Given the description of an element on the screen output the (x, y) to click on. 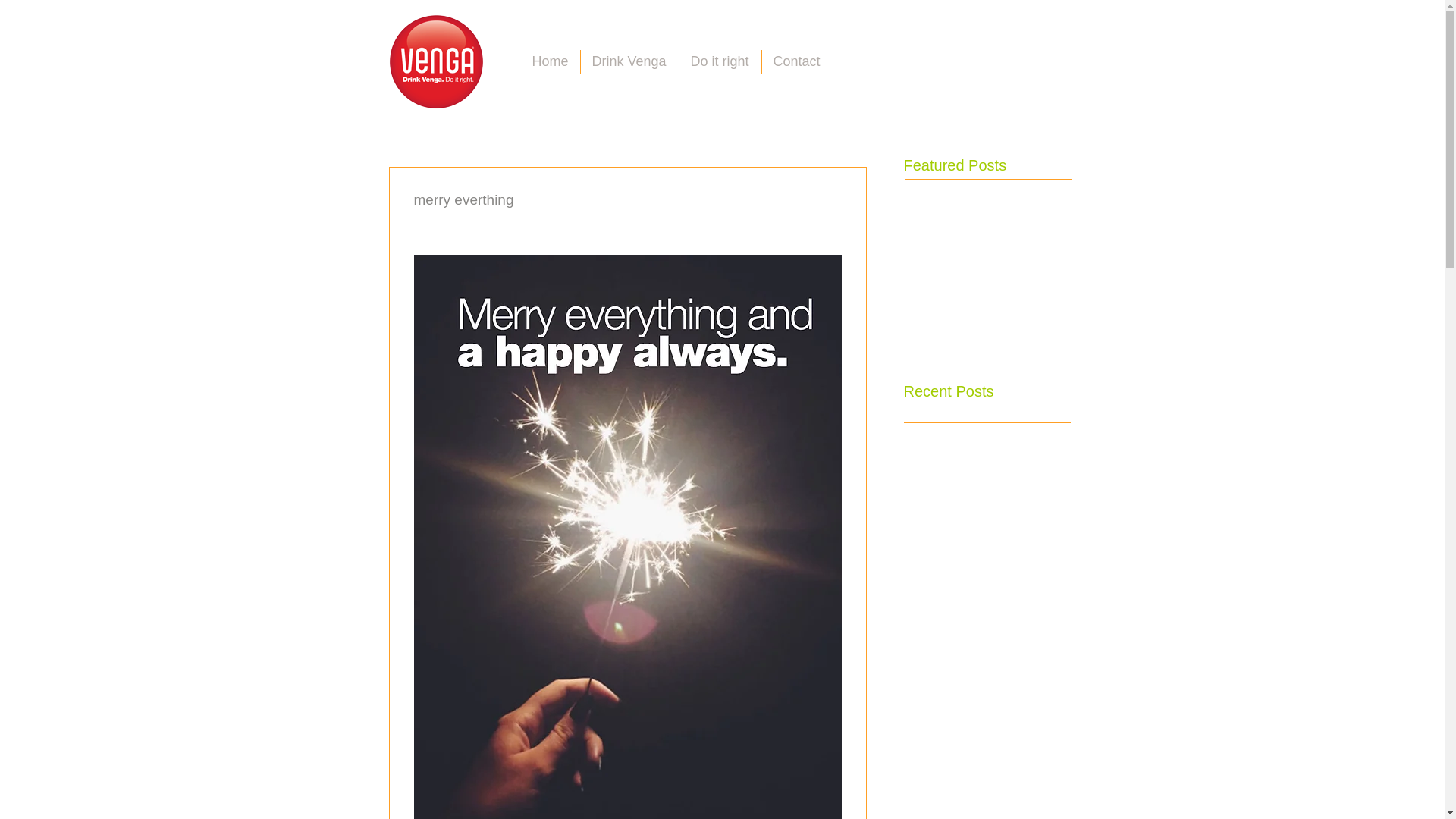
Do it right (720, 61)
Home (549, 61)
Contact (796, 61)
Drink Venga (629, 61)
